Given the description of an element on the screen output the (x, y) to click on. 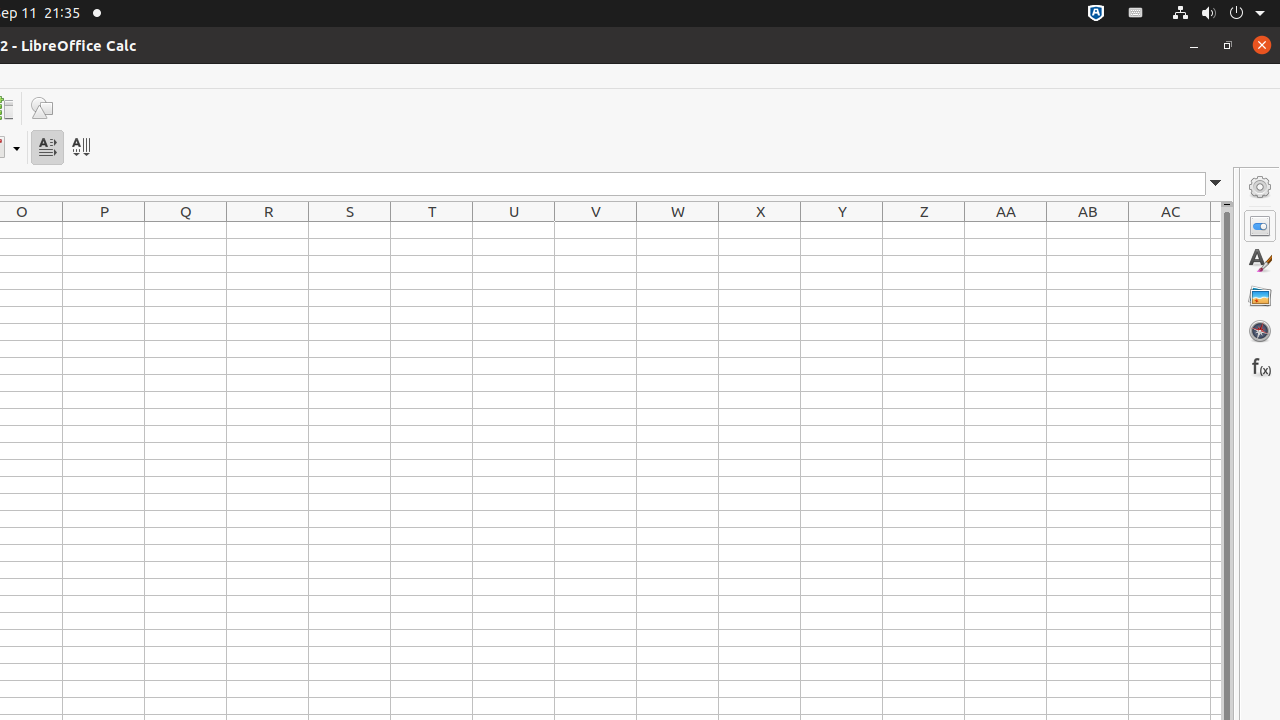
Functions Element type: radio-button (1260, 366)
S1 Element type: table-cell (350, 230)
R1 Element type: table-cell (268, 230)
X1 Element type: table-cell (760, 230)
